Given the description of an element on the screen output the (x, y) to click on. 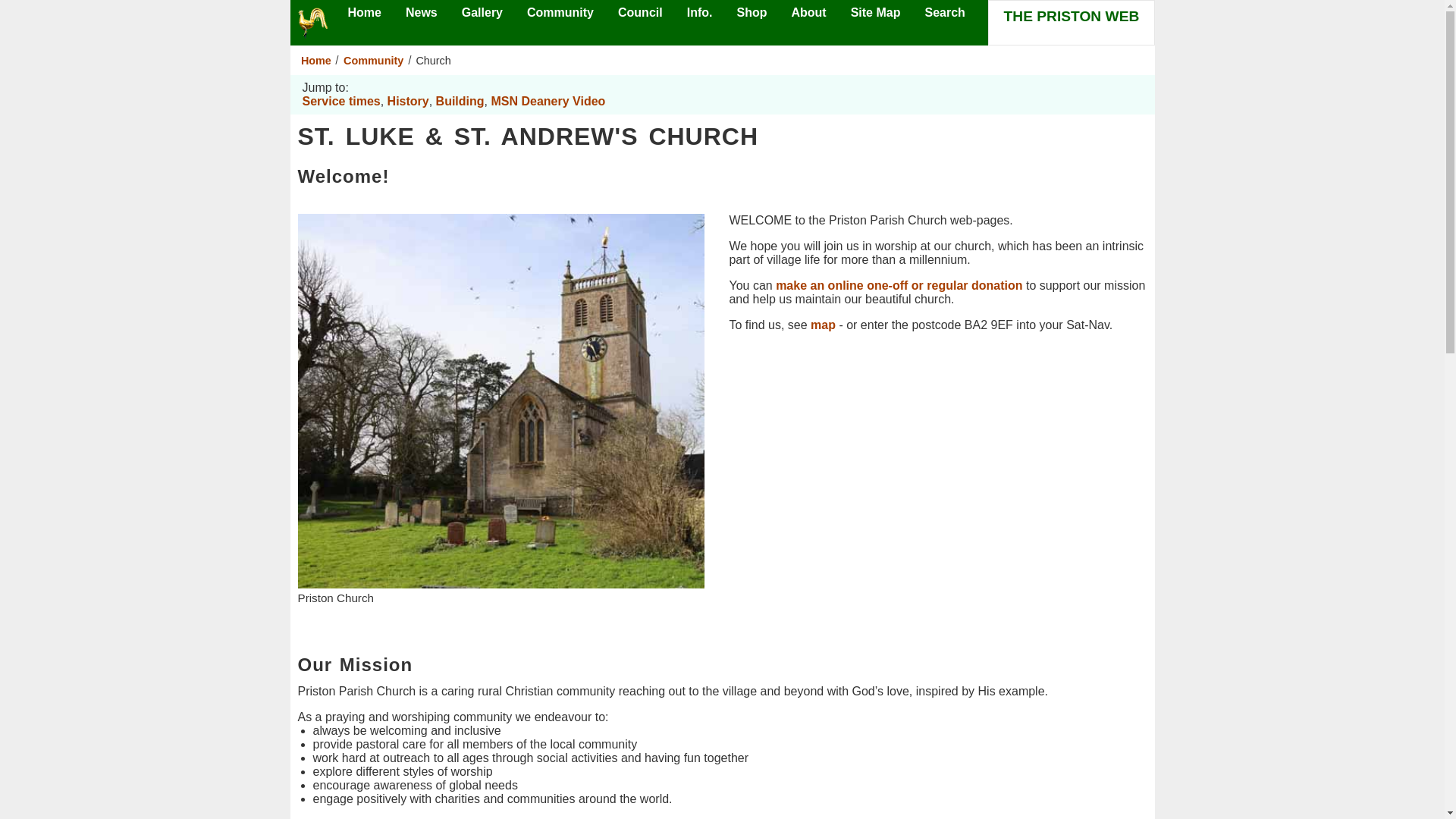
News (422, 11)
Council (639, 11)
Community (560, 11)
Home (317, 60)
Search (943, 11)
Info. (700, 11)
Site Map (875, 11)
Search (943, 11)
Community (373, 60)
Building (459, 101)
Shop (751, 11)
map (822, 324)
Service times (340, 101)
Gallery (481, 11)
